Given the description of an element on the screen output the (x, y) to click on. 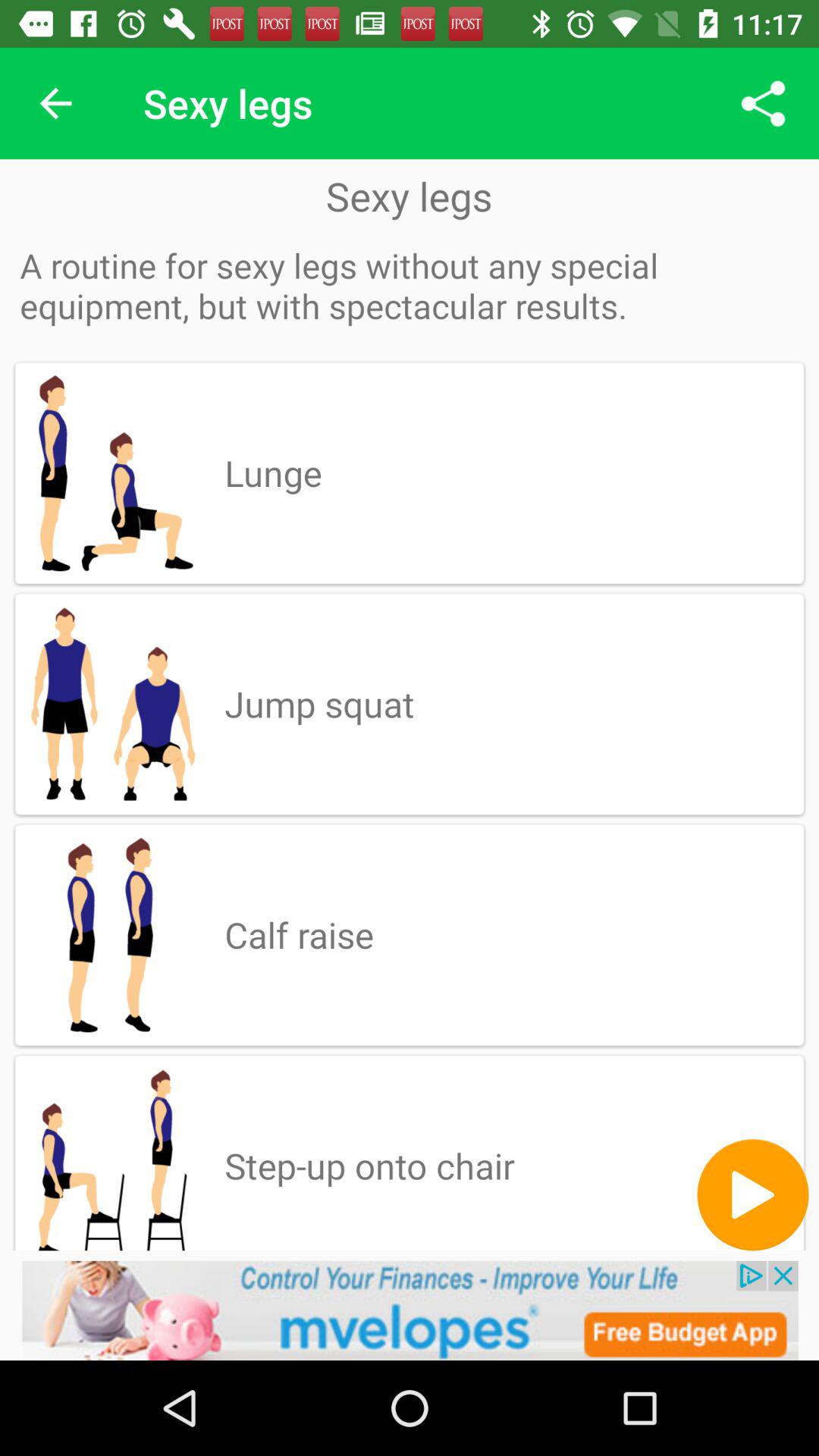
play button (752, 1194)
